Given the description of an element on the screen output the (x, y) to click on. 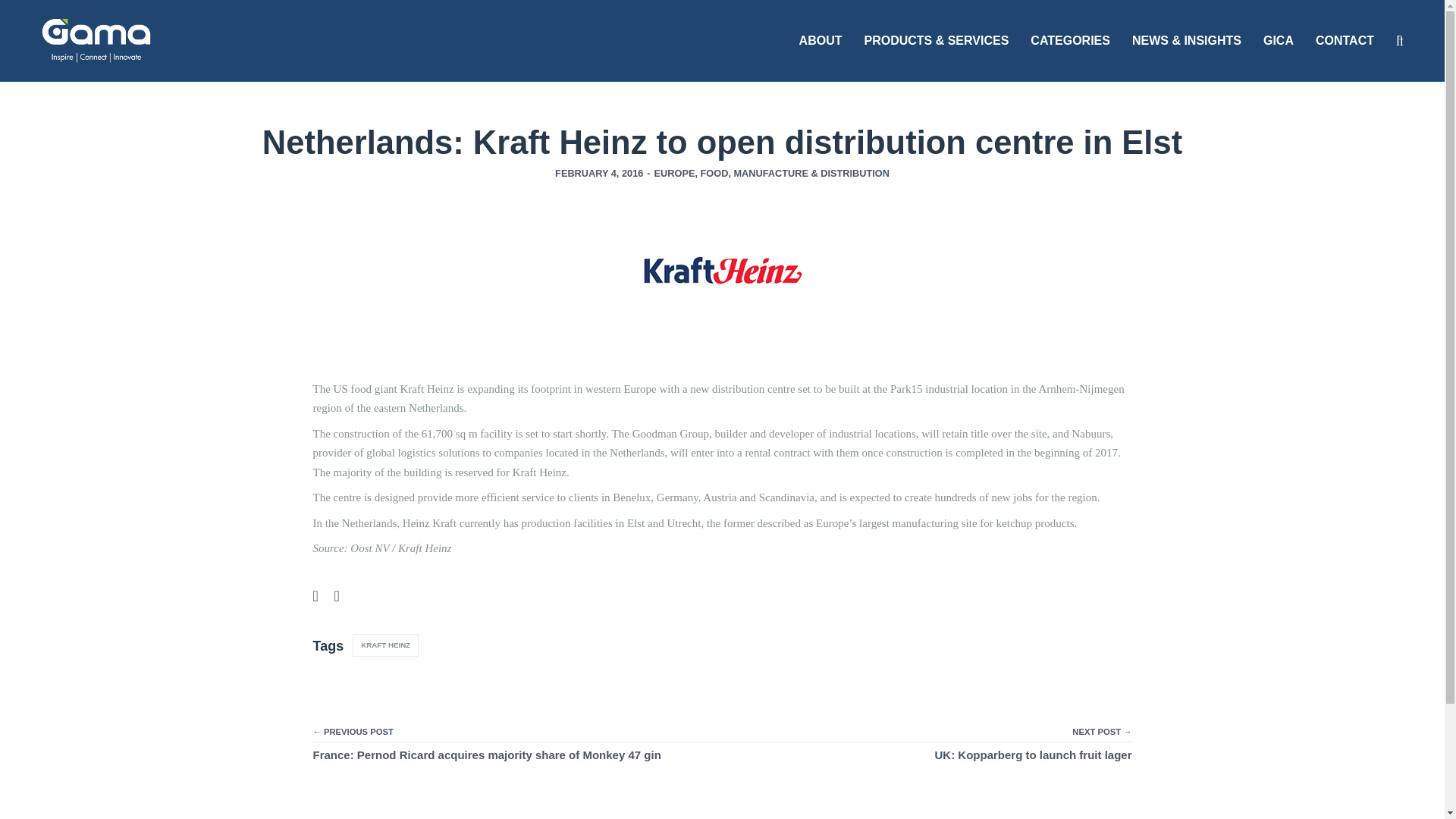
CATEGORIES (1070, 40)
